Given the description of an element on the screen output the (x, y) to click on. 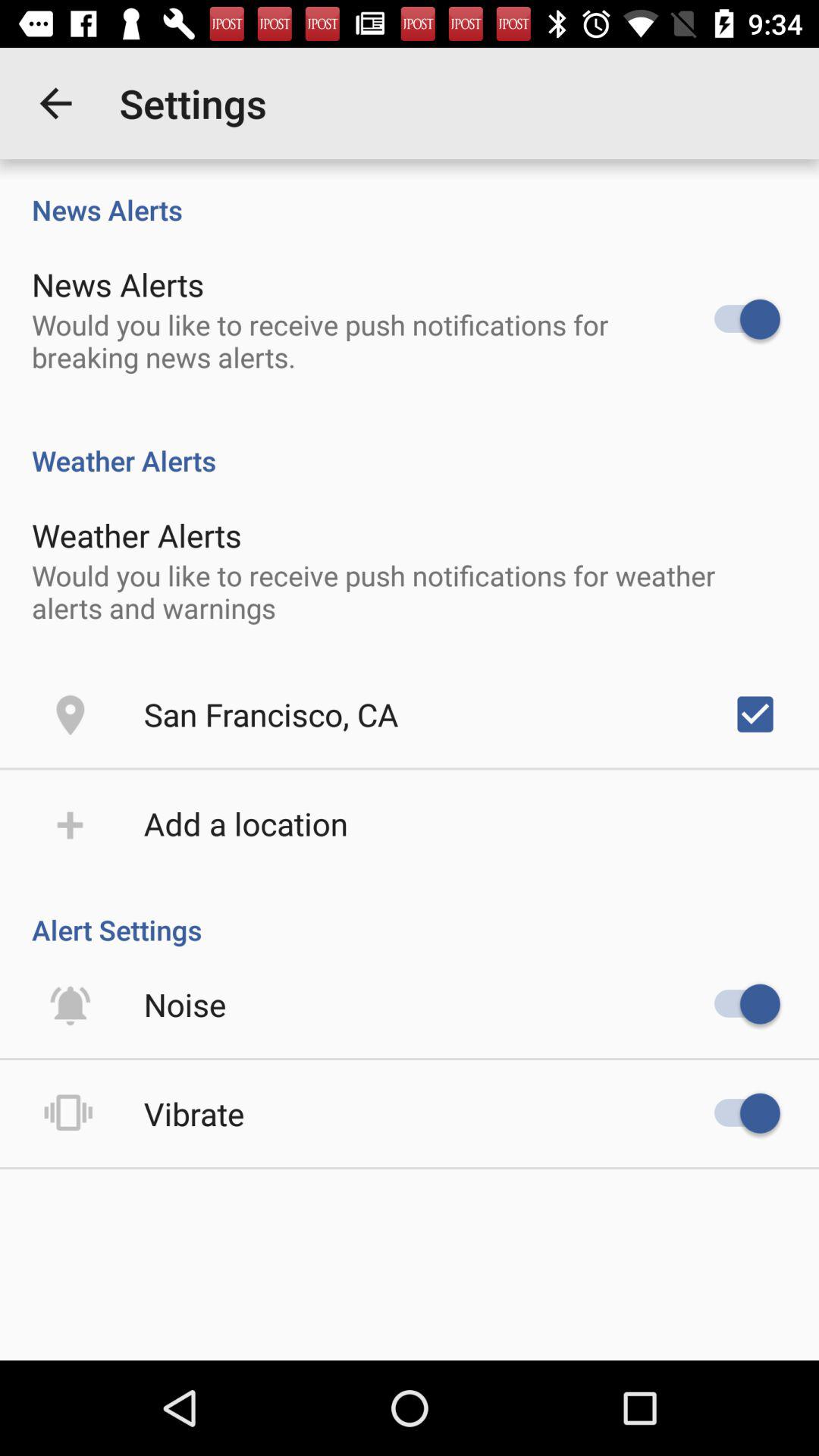
turn on item below the would you like item (755, 714)
